Given the description of an element on the screen output the (x, y) to click on. 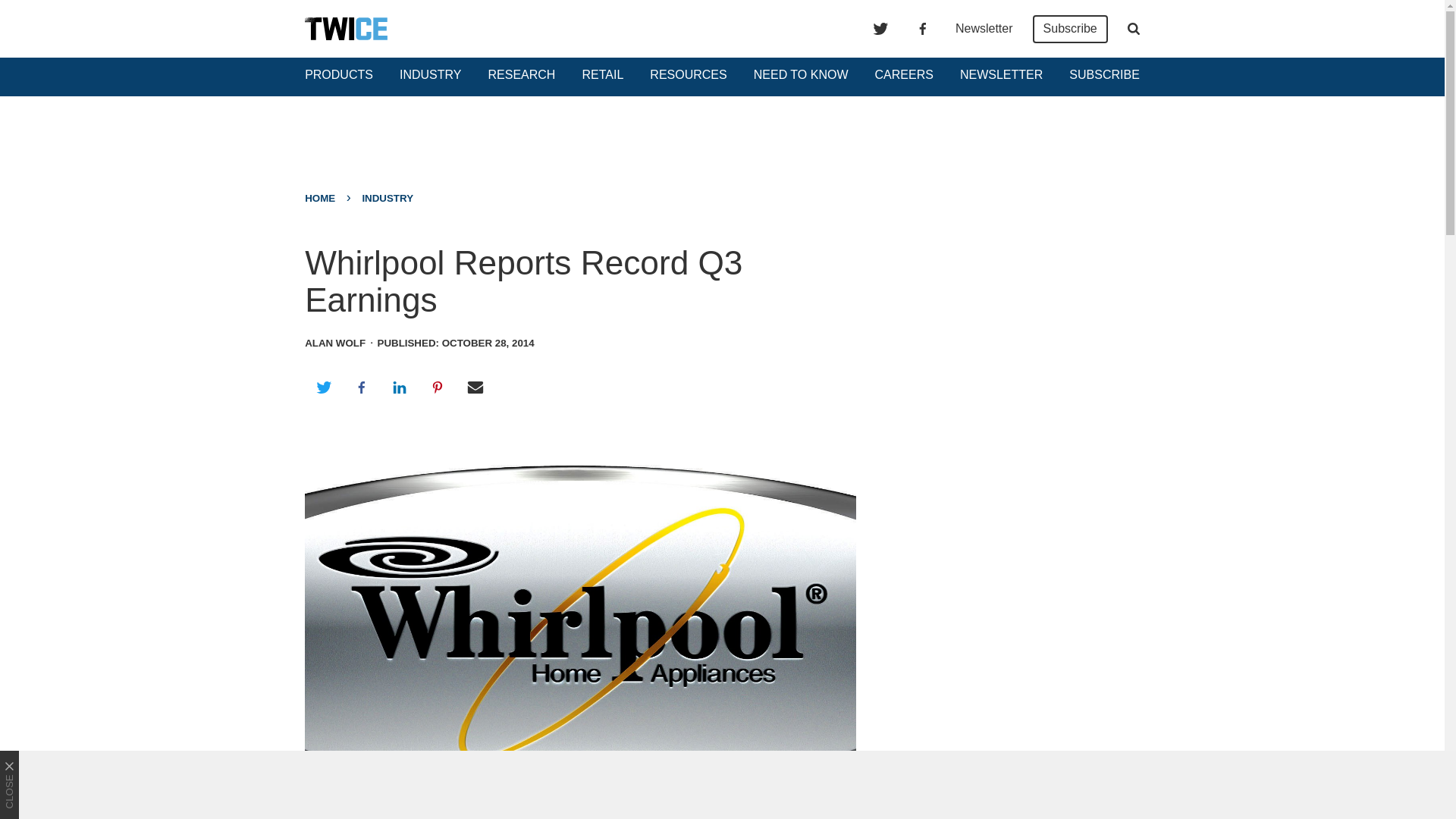
Posts by Alan Wolf (334, 342)
Share on Pinterest (438, 387)
Share on Facebook (361, 387)
Share on LinkedIn (399, 387)
Share via Email (476, 387)
Share on Twitter (323, 387)
